Given the description of an element on the screen output the (x, y) to click on. 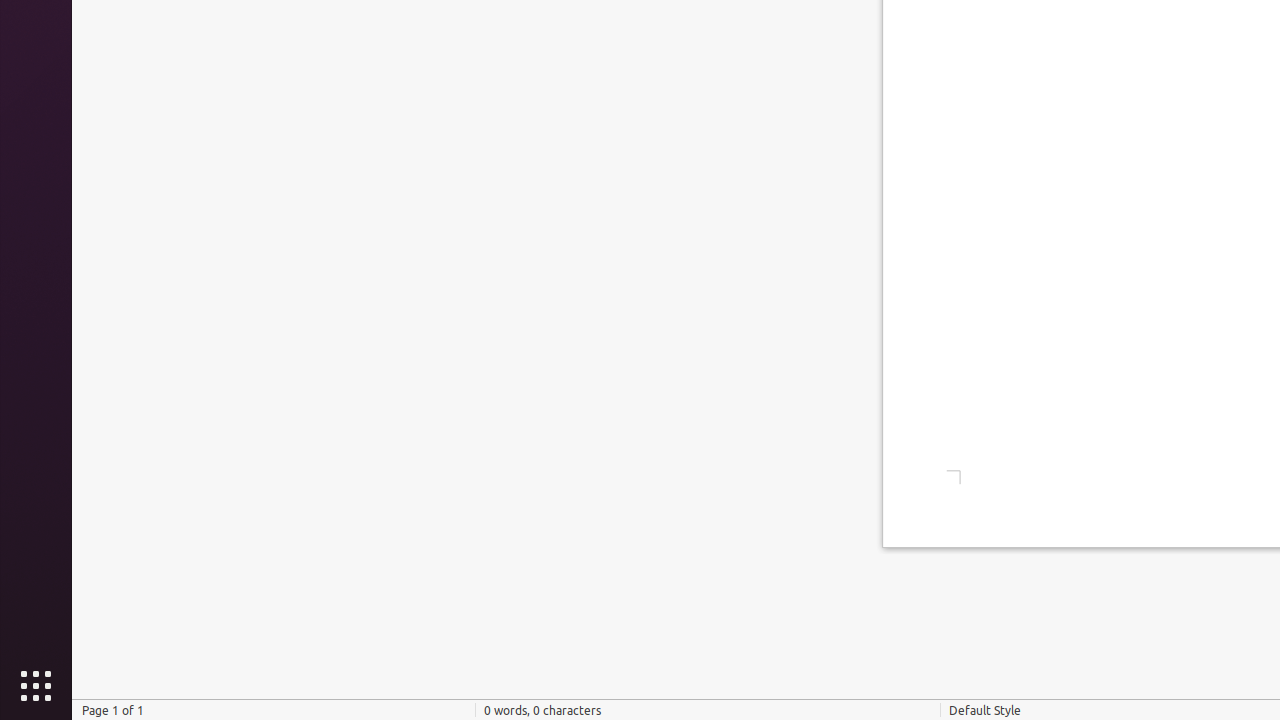
Show Applications Element type: toggle-button (36, 686)
